Given the description of an element on the screen output the (x, y) to click on. 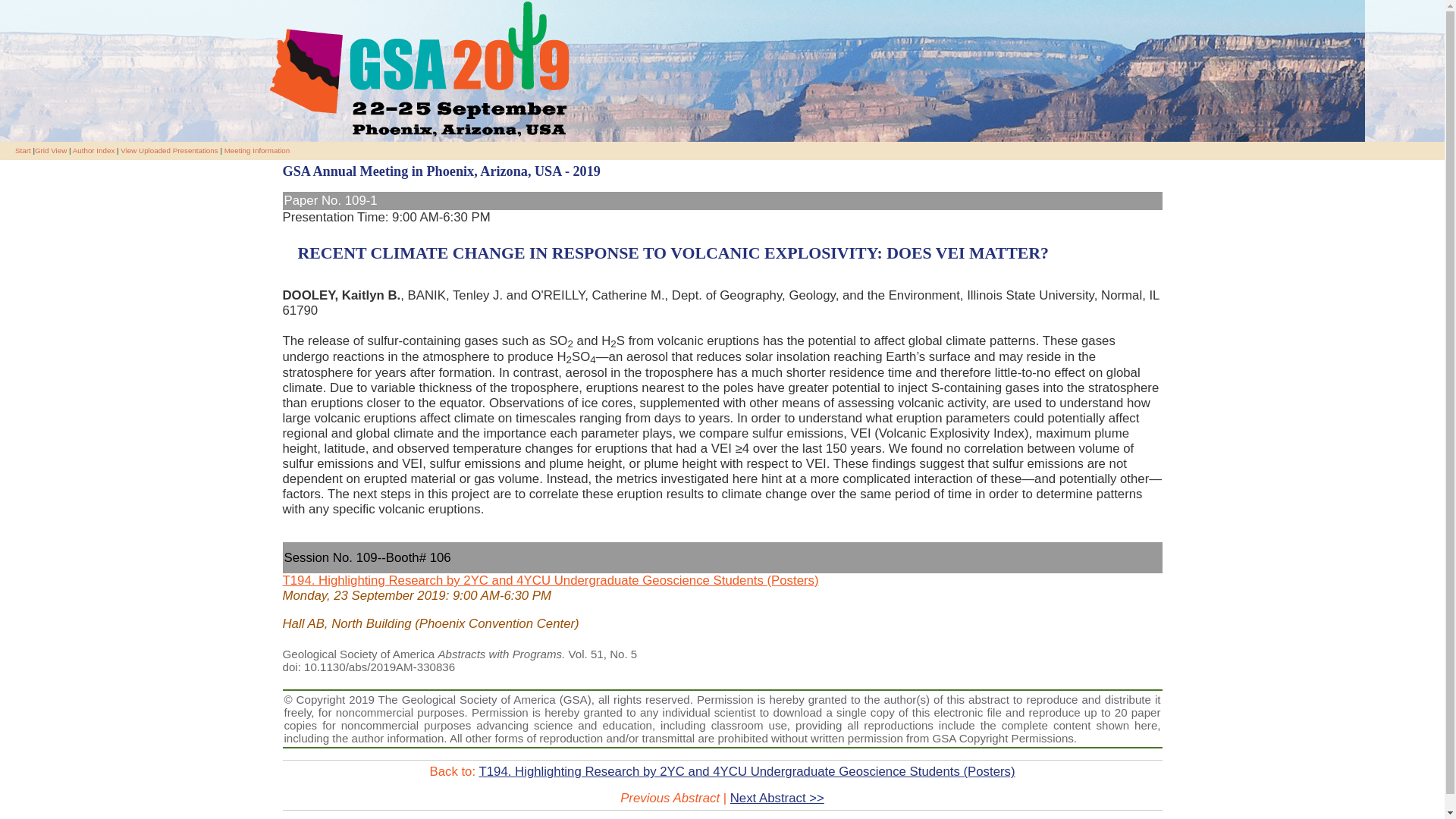
Meeting Information (256, 150)
Author Index (93, 150)
View Uploaded Presentations (168, 150)
Start (22, 150)
Grid View (50, 150)
